Given the description of an element on the screen output the (x, y) to click on. 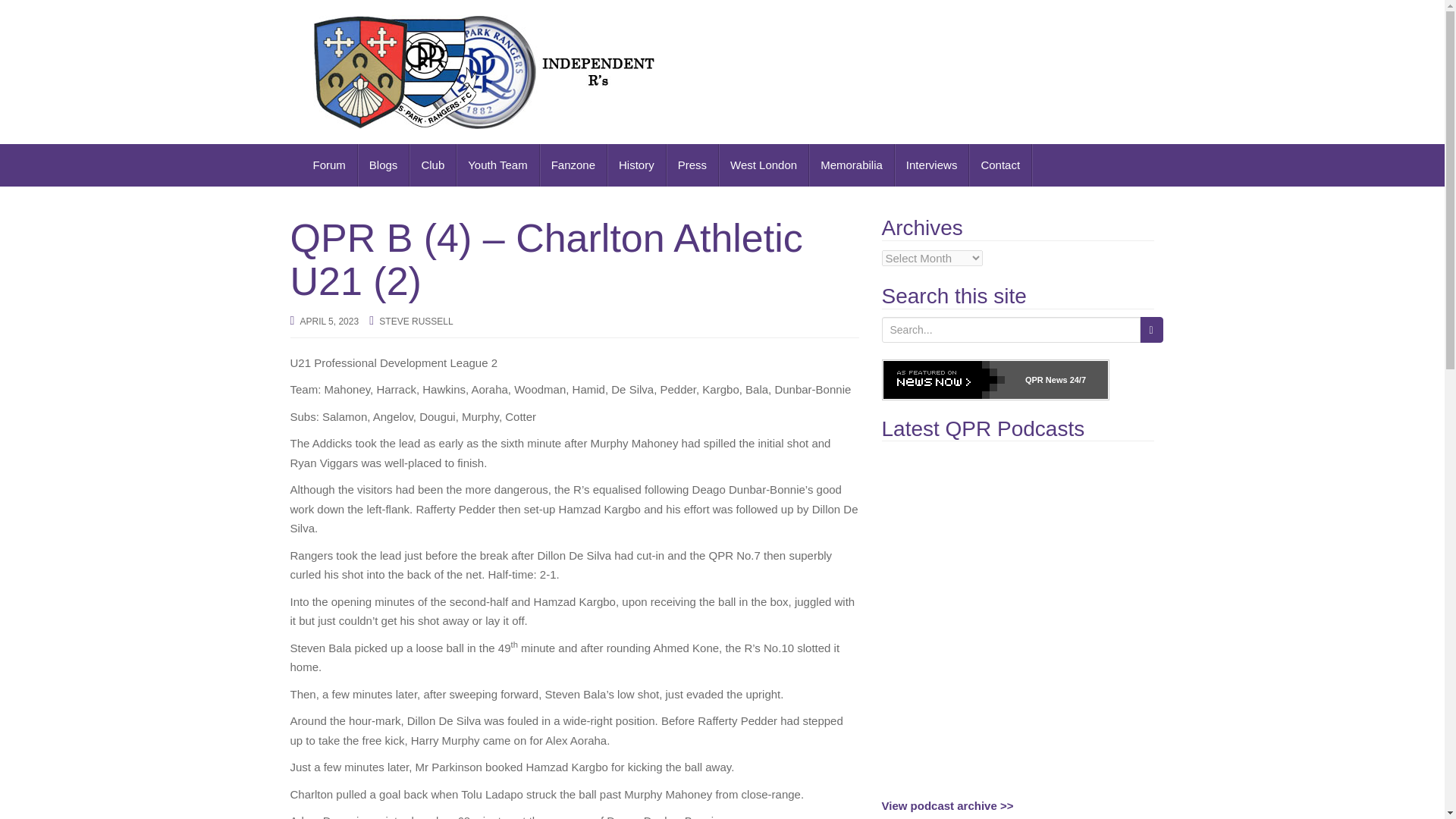
Fanzone (573, 165)
Fanzone (573, 165)
Click here for more QPR news from NewsNow (994, 379)
West London (764, 165)
Club (433, 165)
Press (692, 165)
History (636, 165)
Press (692, 165)
QPR News (1046, 379)
West London (764, 165)
